Given the description of an element on the screen output the (x, y) to click on. 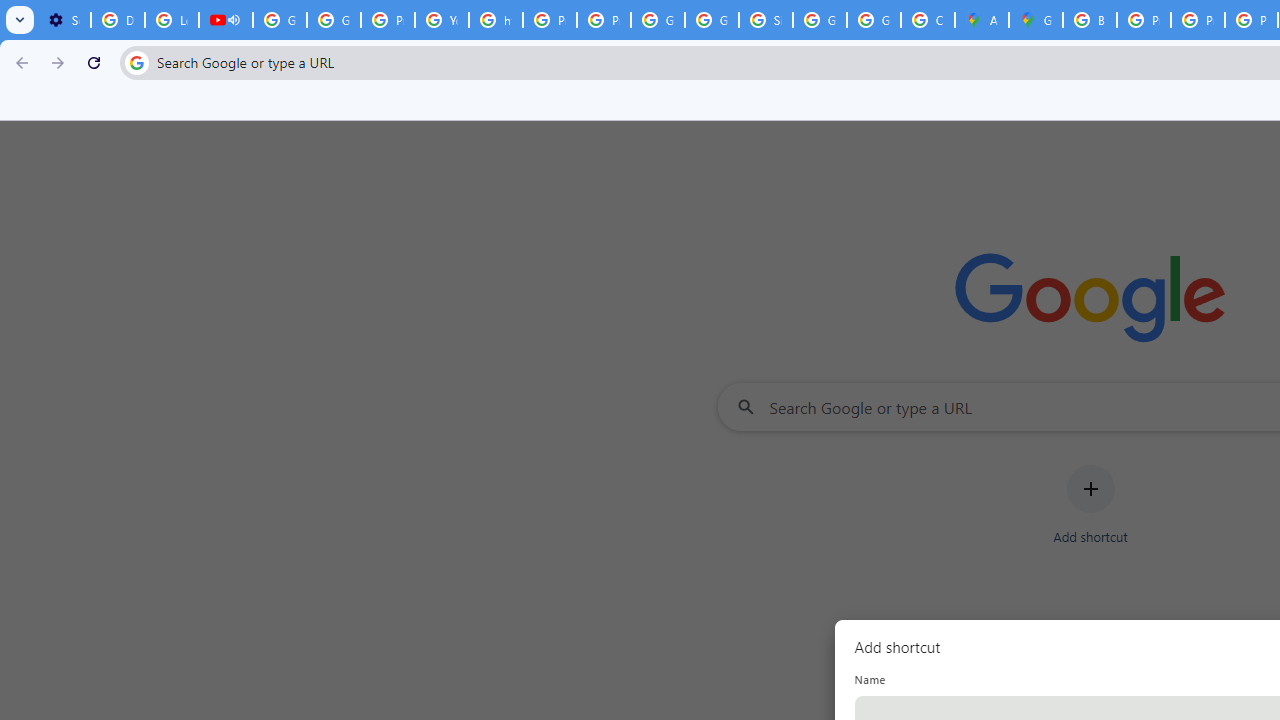
Privacy Help Center - Policies Help (1197, 20)
Privacy Help Center - Policies Help (550, 20)
YouTube (441, 20)
Google Maps (1035, 20)
Delete photos & videos - Computer - Google Photos Help (117, 20)
Privacy Help Center - Policies Help (387, 20)
